Given the description of an element on the screen output the (x, y) to click on. 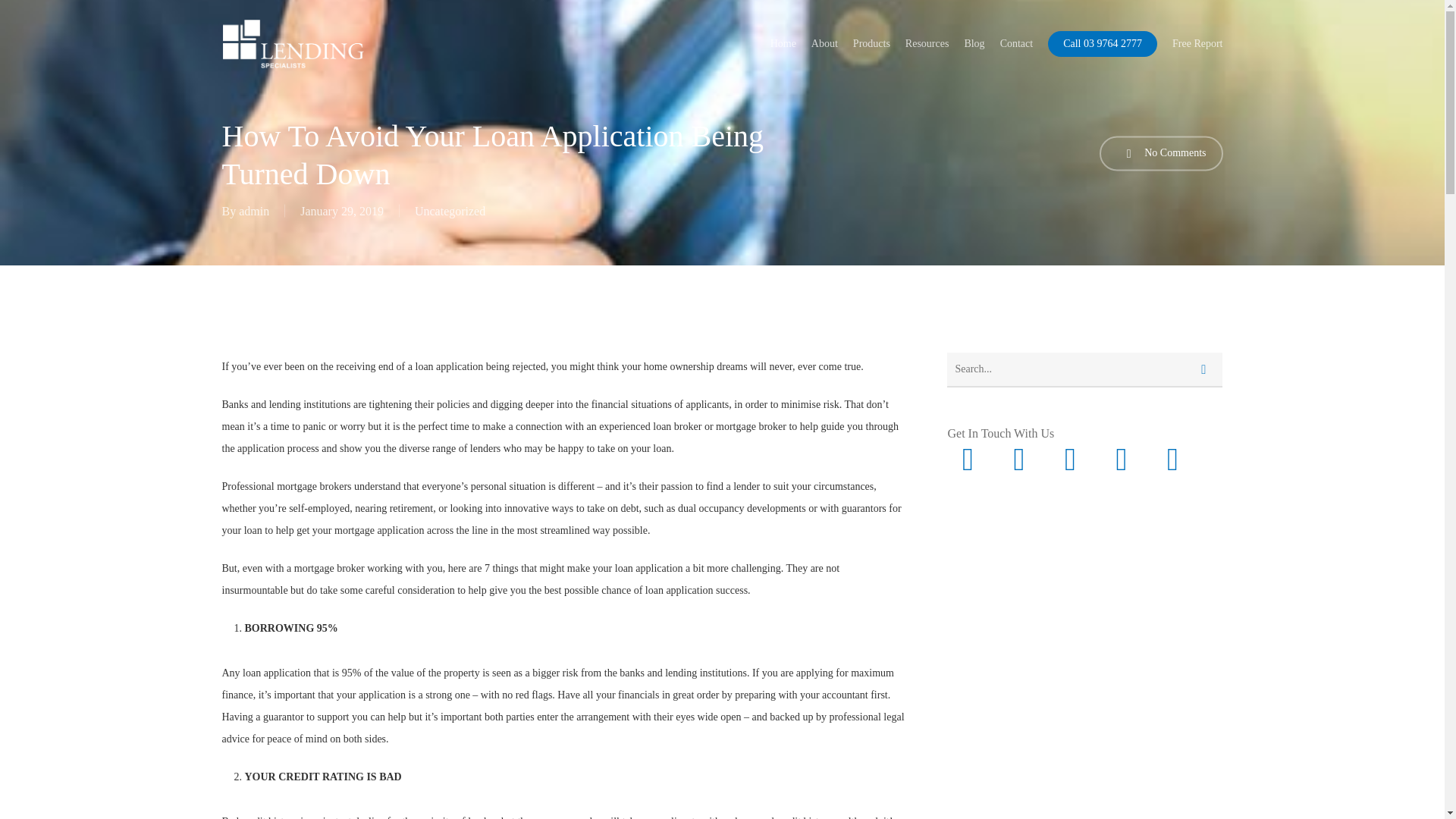
Resources (927, 42)
Free Report (1197, 42)
No Comments (1161, 152)
Posts by admin (253, 210)
Blog (973, 42)
About (824, 42)
Home (783, 42)
admin (253, 210)
Uncategorized (449, 210)
Call 03 9764 2777 (1102, 42)
Search for: (1085, 369)
Products (871, 42)
Contact (1016, 42)
